Given the description of an element on the screen output the (x, y) to click on. 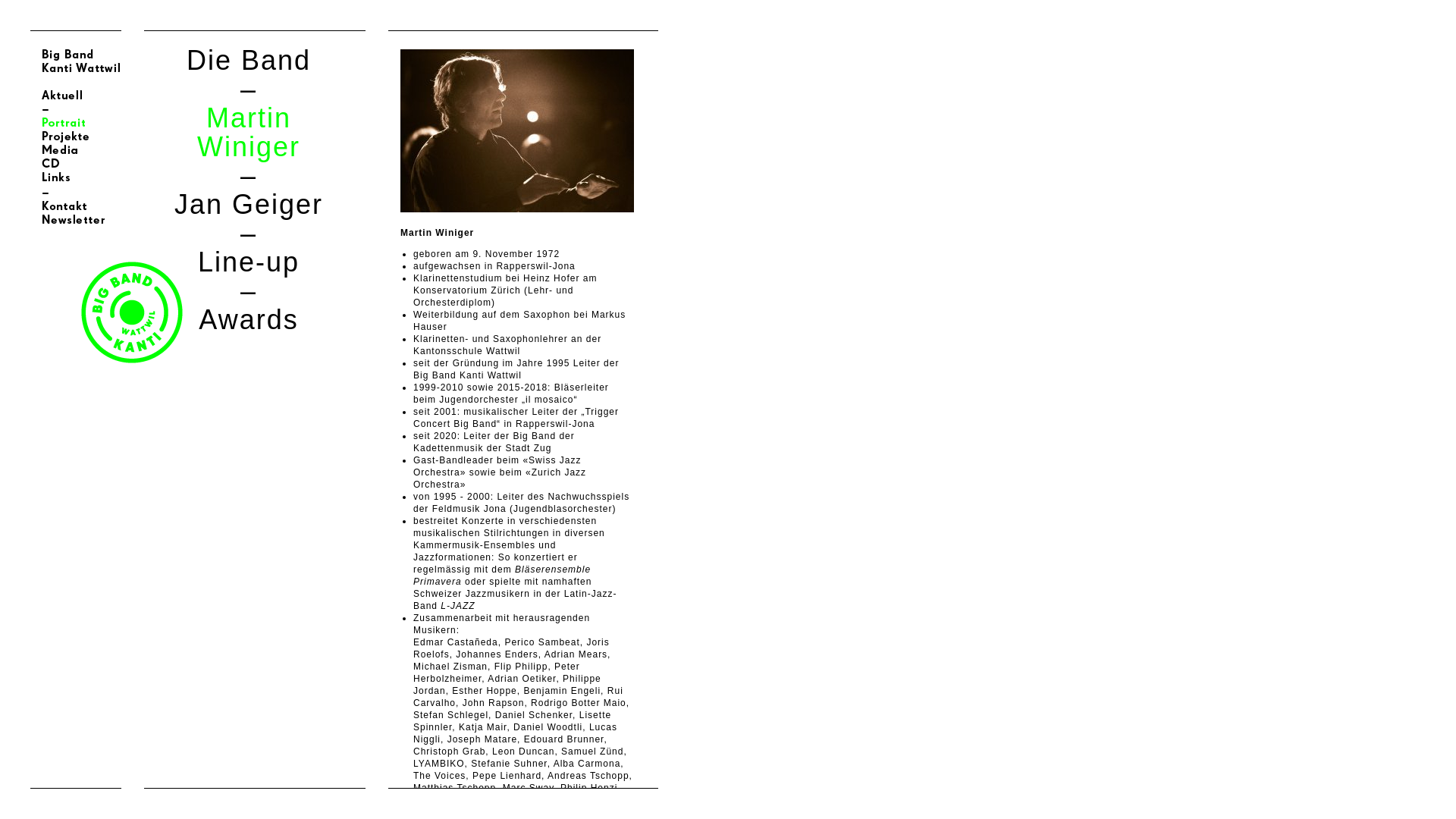
Awards Element type: text (248, 319)
Die Band Element type: text (248, 59)
Martin Winiger Element type: text (248, 132)
Martin Winiger Element type: text (436, 232)
Line-up Element type: text (248, 261)
Jan Geiger Element type: text (248, 203)
